Given the description of an element on the screen output the (x, y) to click on. 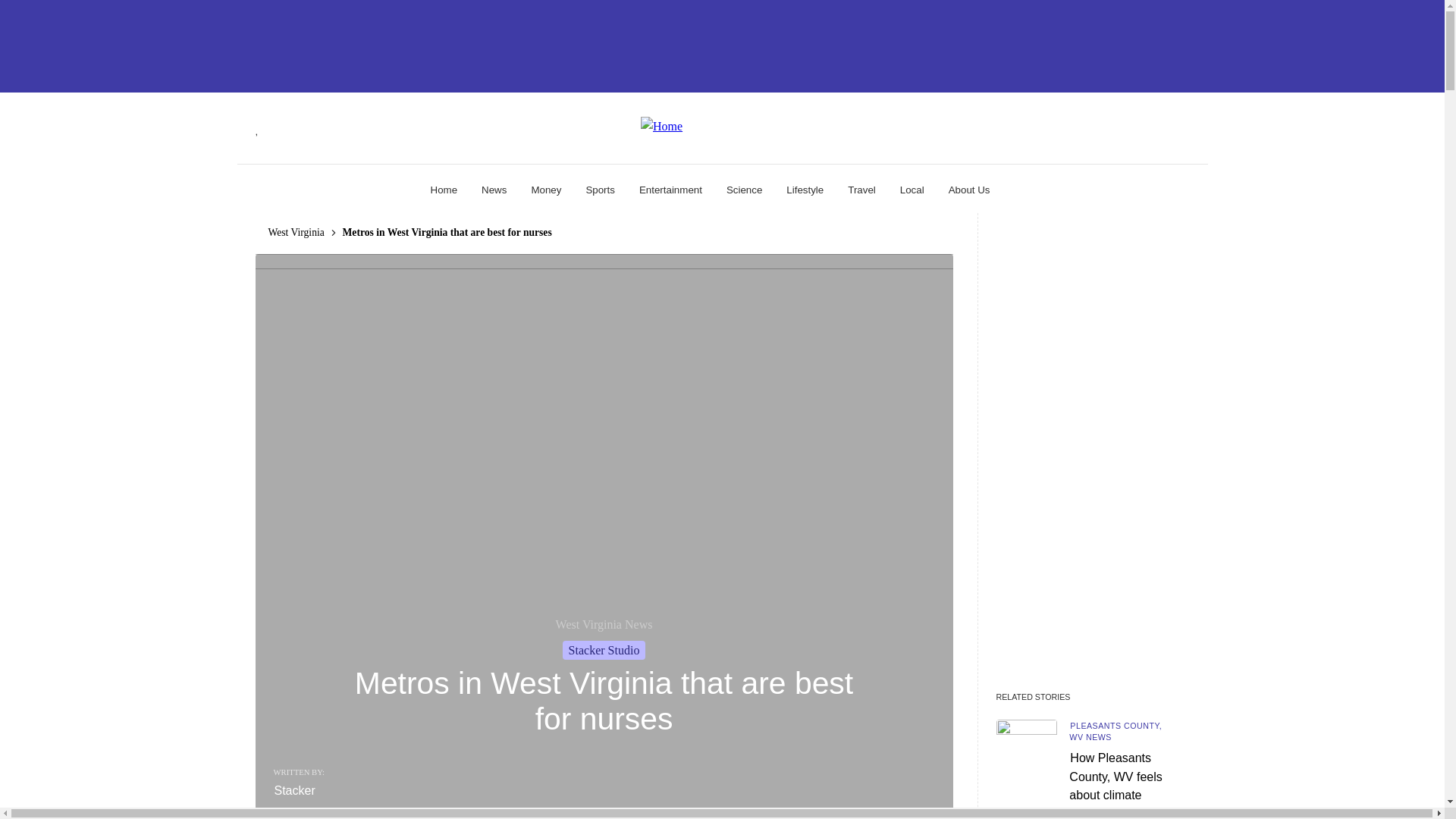
Stacker Studio (603, 650)
Local (911, 190)
About Us (969, 190)
West Virginia News (604, 624)
Lifestyle (805, 190)
Money (545, 190)
PLEASANTS COUNTY, WV NEWS (1114, 730)
Search (260, 185)
How Pleasants County, WV feels about climate change (1114, 784)
Science (743, 190)
Home (444, 190)
West Virginia (295, 232)
Travel (861, 190)
Entertainment (670, 190)
News (493, 190)
